Given the description of an element on the screen output the (x, y) to click on. 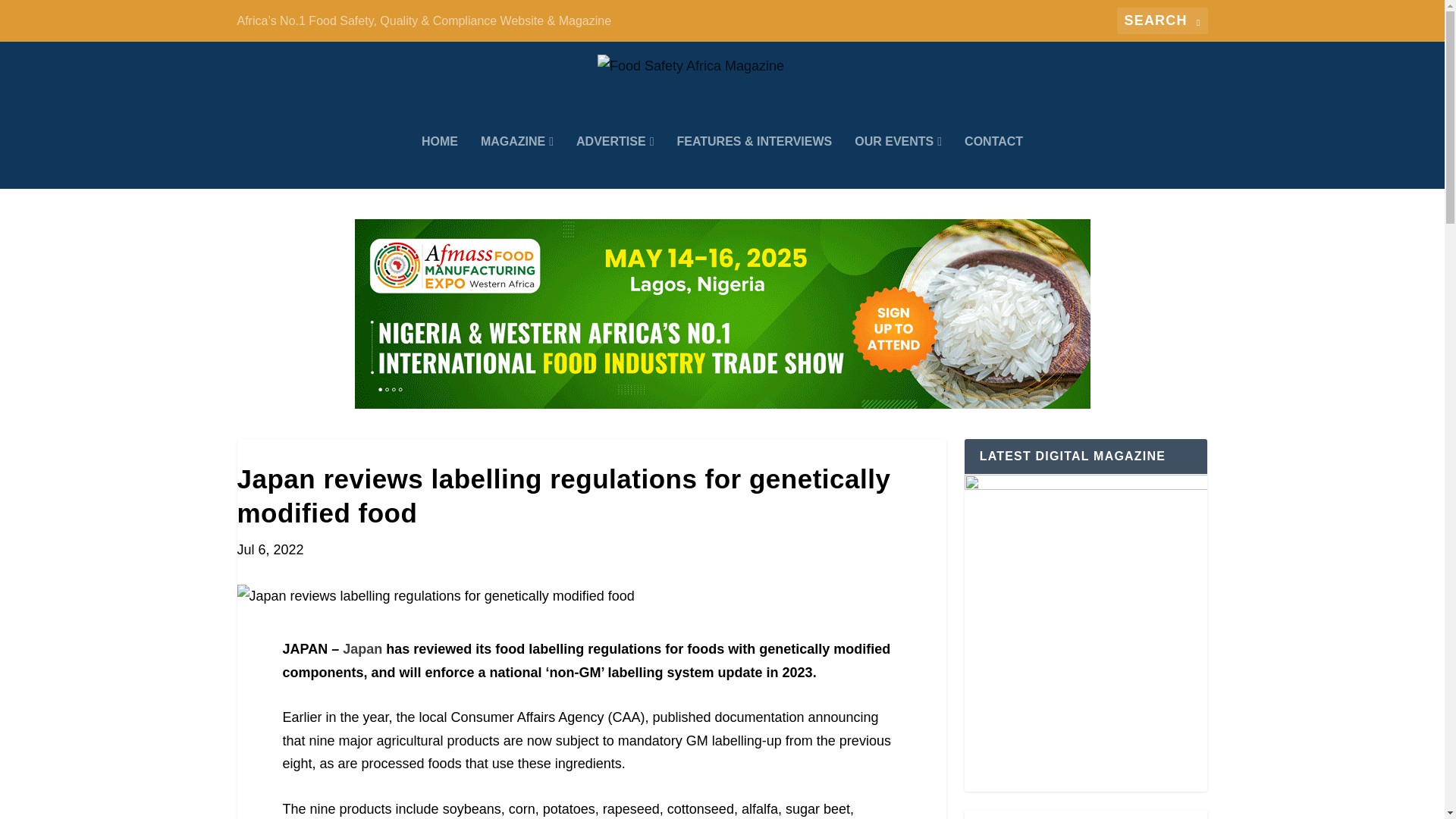
Japan (361, 648)
Search for: (1161, 20)
CONTACT (993, 162)
ADVERTISE (614, 162)
MAGAZINE (516, 162)
OUR EVENTS (898, 162)
